Given the description of an element on the screen output the (x, y) to click on. 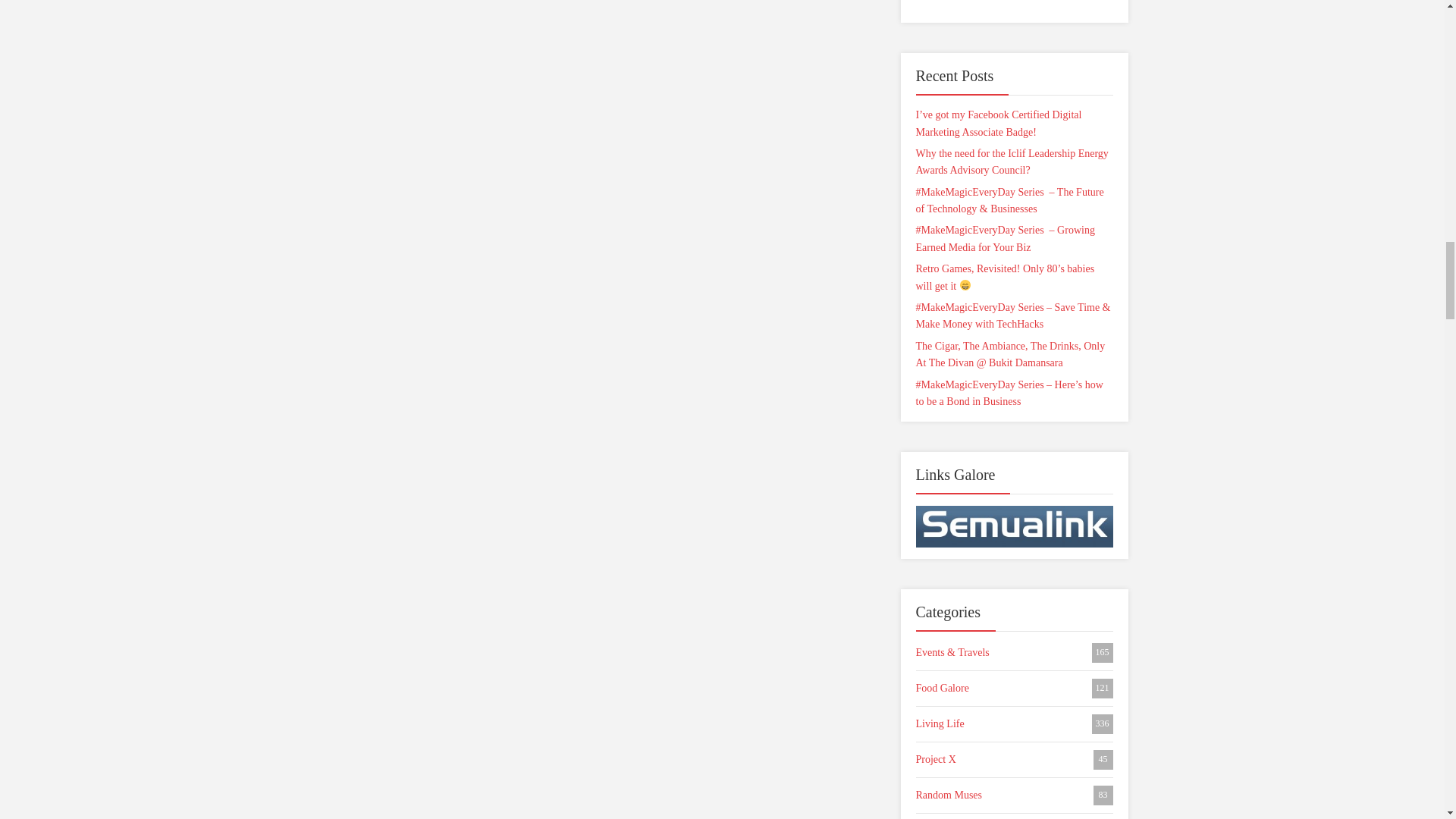
the best links in one (1014, 525)
